Given the description of an element on the screen output the (x, y) to click on. 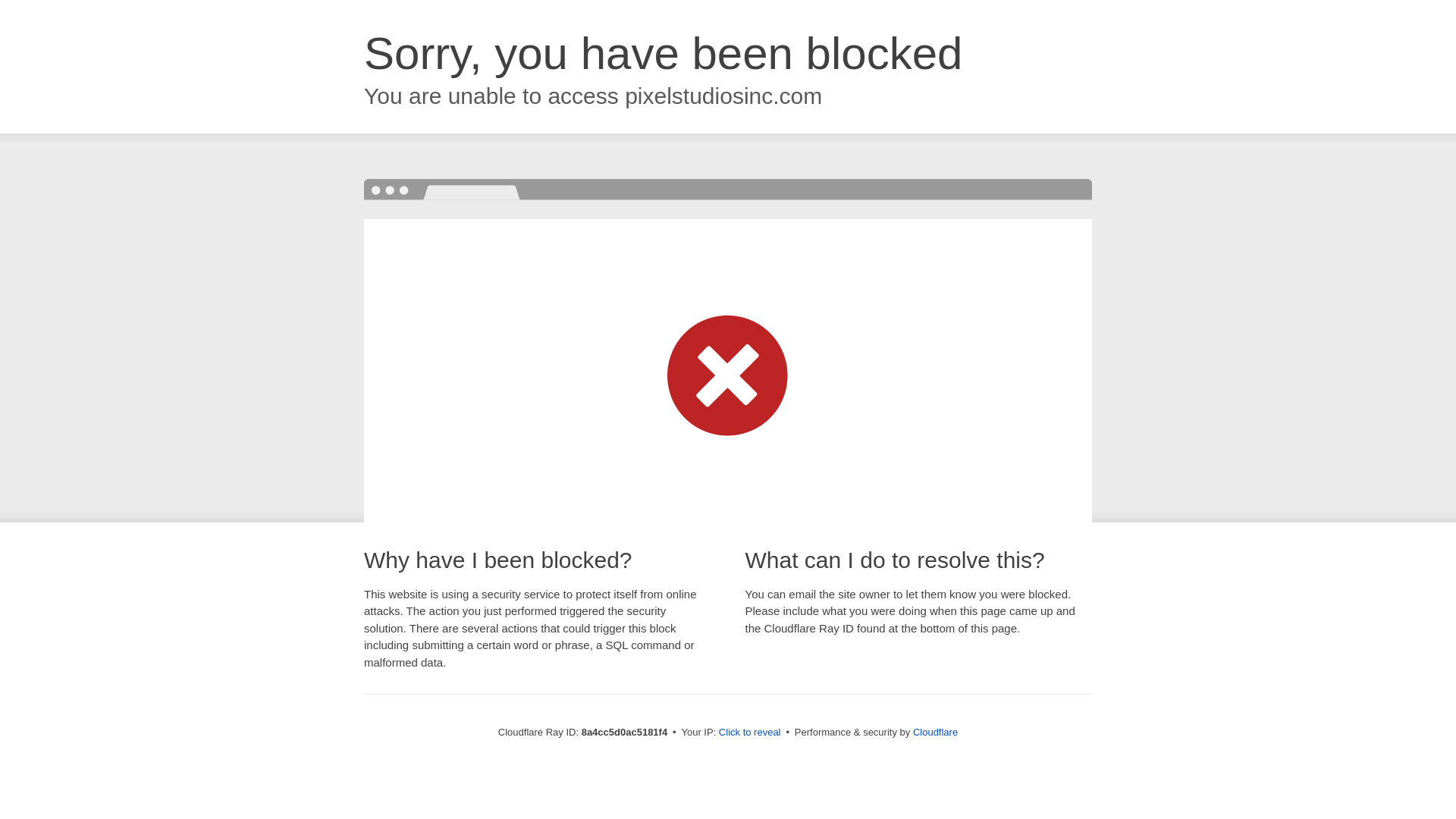
Cloudflare (935, 731)
Click to reveal (749, 732)
